Given the description of an element on the screen output the (x, y) to click on. 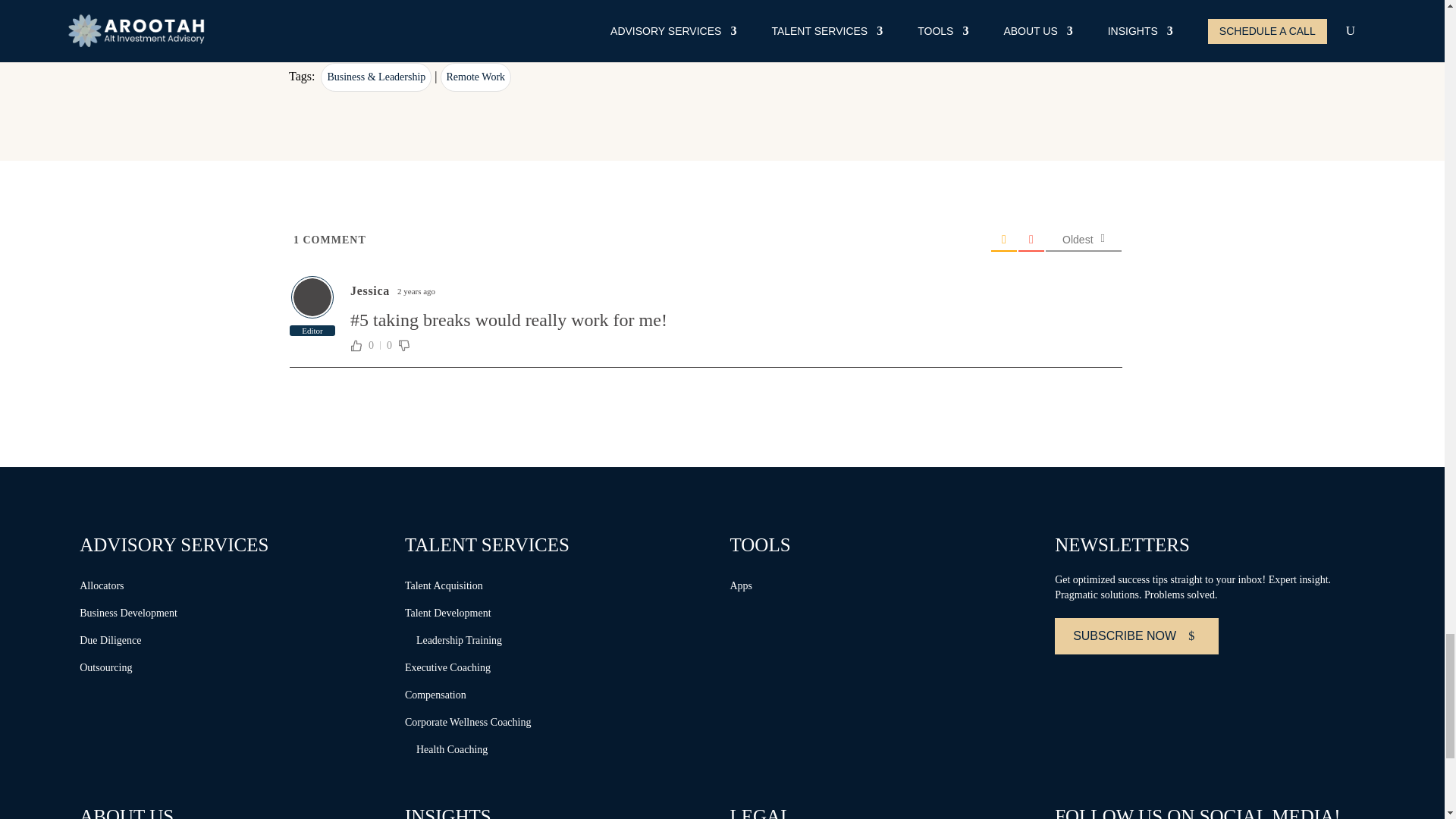
September 17, 2021 5:06 pm (416, 290)
0 (388, 345)
0 (371, 345)
